Given the description of an element on the screen output the (x, y) to click on. 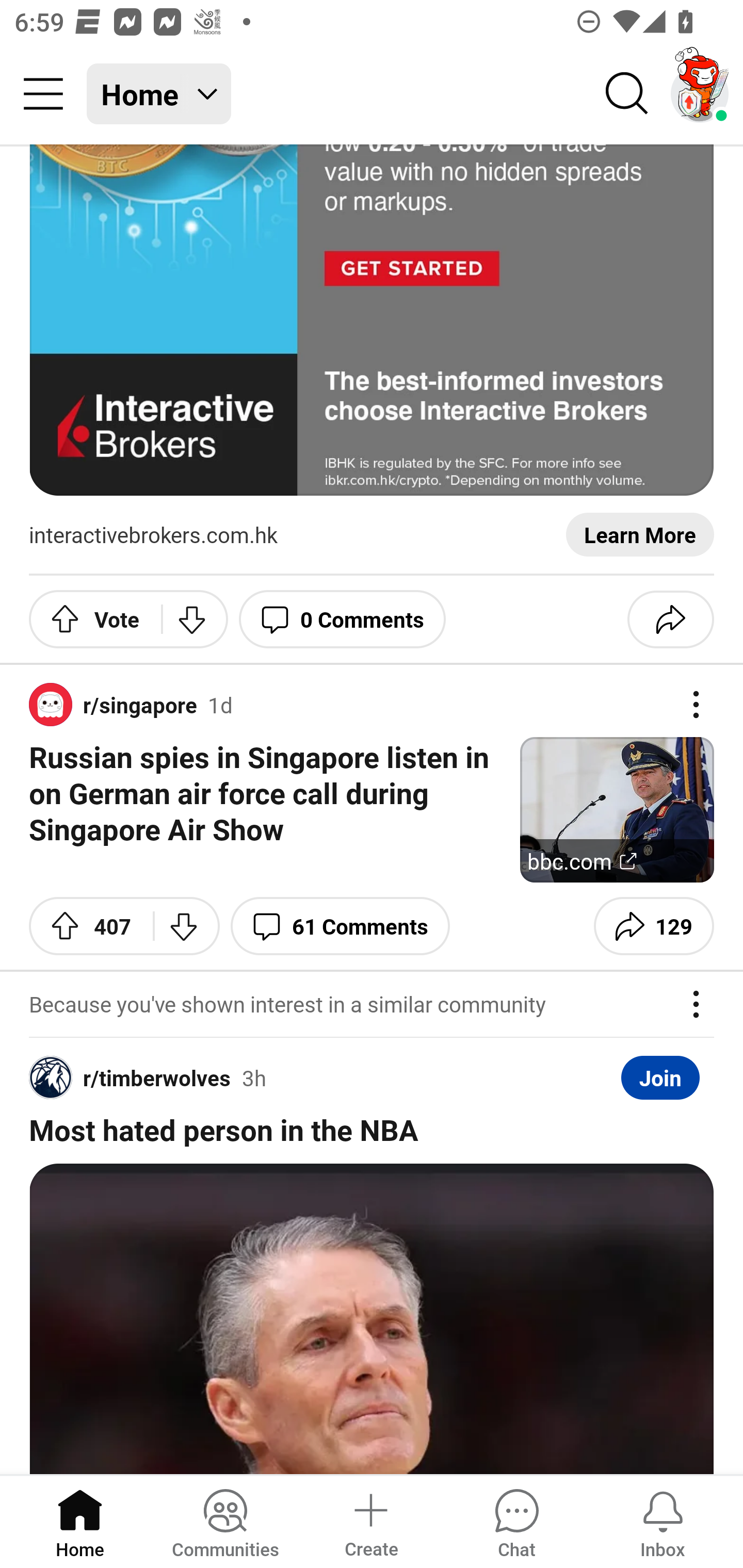
Community menu (43, 93)
Home Home feed (158, 93)
Search (626, 93)
TestAppium002 account (699, 93)
Home (80, 1520)
Communities (225, 1520)
Create a post Create (370, 1520)
Chat (516, 1520)
Inbox (662, 1520)
